Given the description of an element on the screen output the (x, y) to click on. 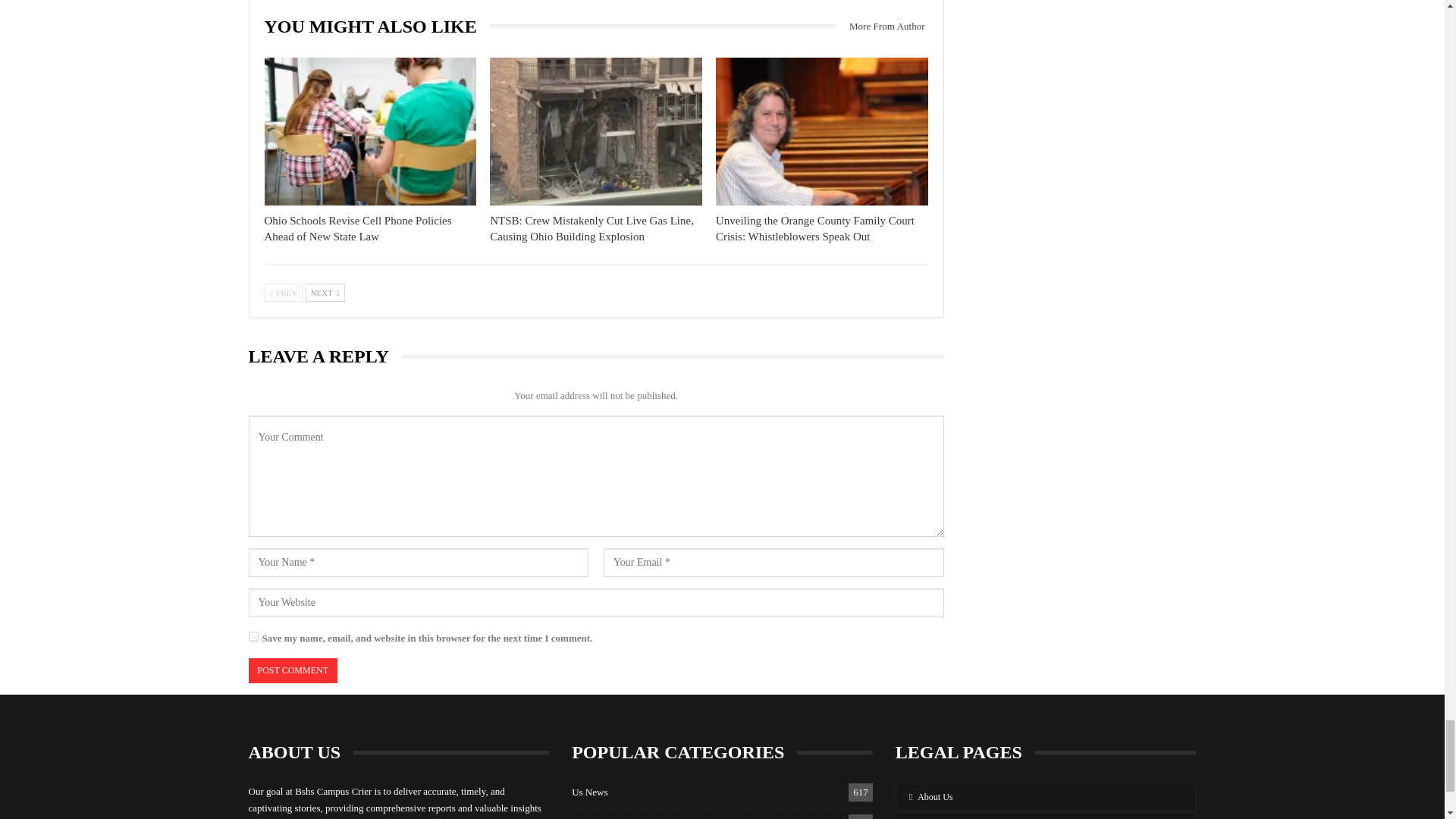
Next (325, 292)
yes (253, 636)
Post Comment (292, 670)
Previous (282, 292)
